Given the description of an element on the screen output the (x, y) to click on. 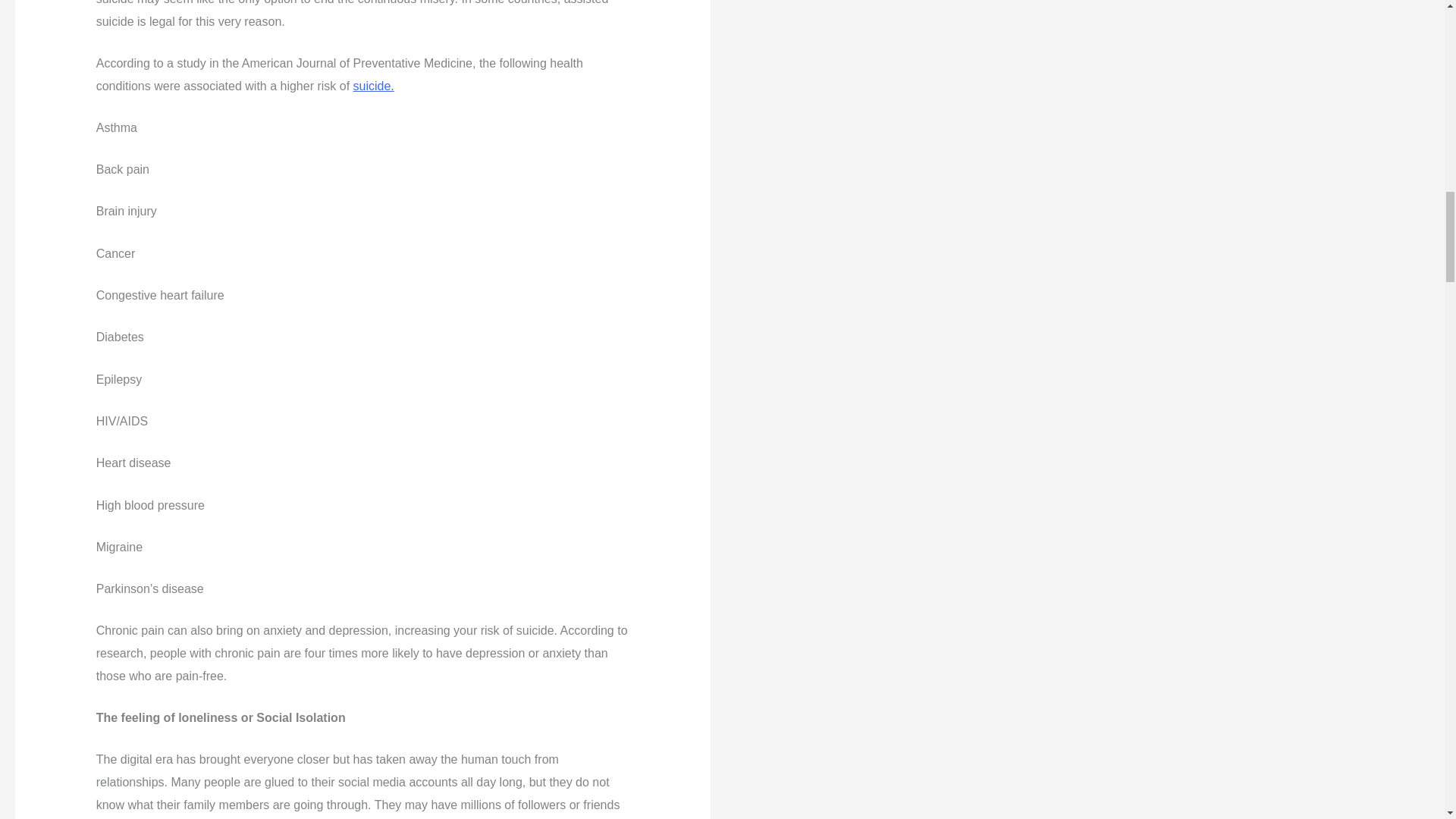
suicide. (373, 85)
